Given the description of an element on the screen output the (x, y) to click on. 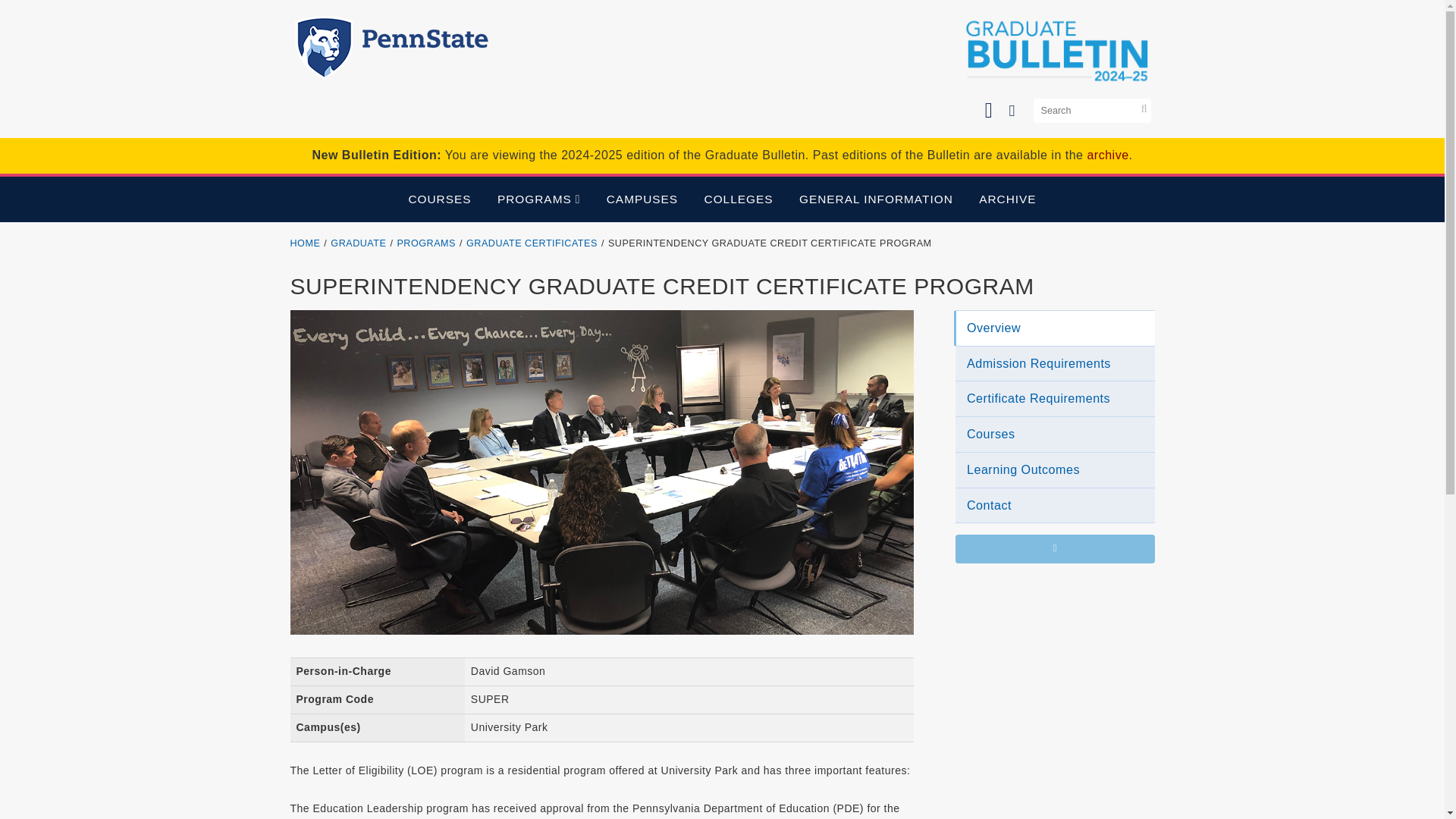
archive (1107, 154)
Opens modal (1054, 548)
Overview (1053, 328)
CAMPUSES (641, 198)
PROGRAMS (425, 243)
GRADUATE CERTIFICATES (530, 243)
COURSES (438, 198)
HOME (304, 243)
COLLEGES (738, 198)
Academic Calendar (1016, 113)
